Given the description of an element on the screen output the (x, y) to click on. 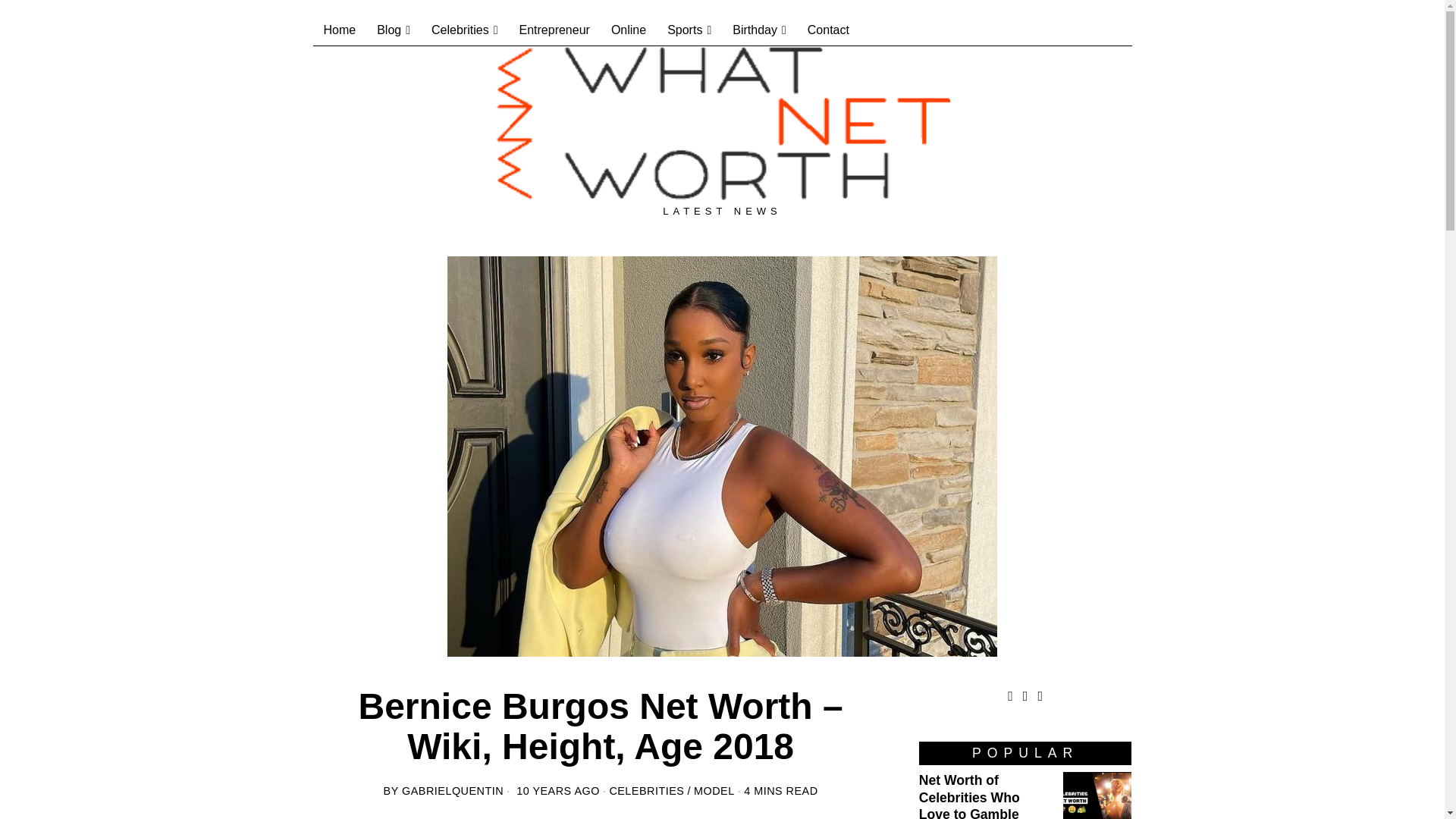
Sports (689, 30)
Blog (393, 30)
Home (339, 30)
MODEL (714, 790)
Contact (828, 30)
Celebrities (464, 30)
Online (627, 30)
Entrepreneur (553, 30)
GABRIELQUENTIN (452, 790)
CELEBRITIES (646, 790)
